Given the description of an element on the screen output the (x, y) to click on. 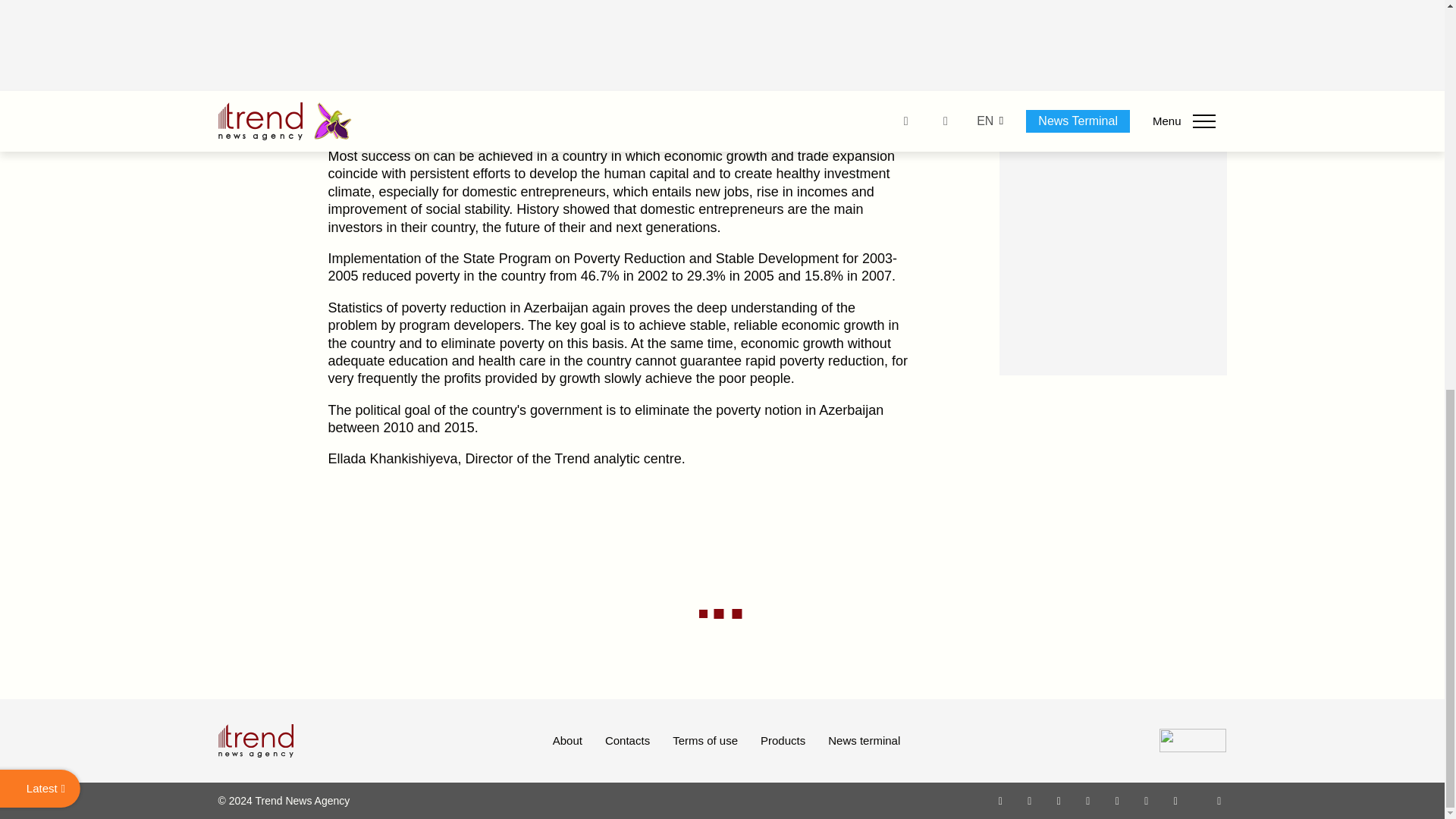
Facebook (1029, 800)
RSS Feed (1219, 800)
Youtube (1088, 800)
LinkedIn (1146, 800)
Twitter (1059, 800)
Whatsapp (1000, 800)
Android App (1176, 800)
Telegram (1117, 800)
